Given the description of an element on the screen output the (x, y) to click on. 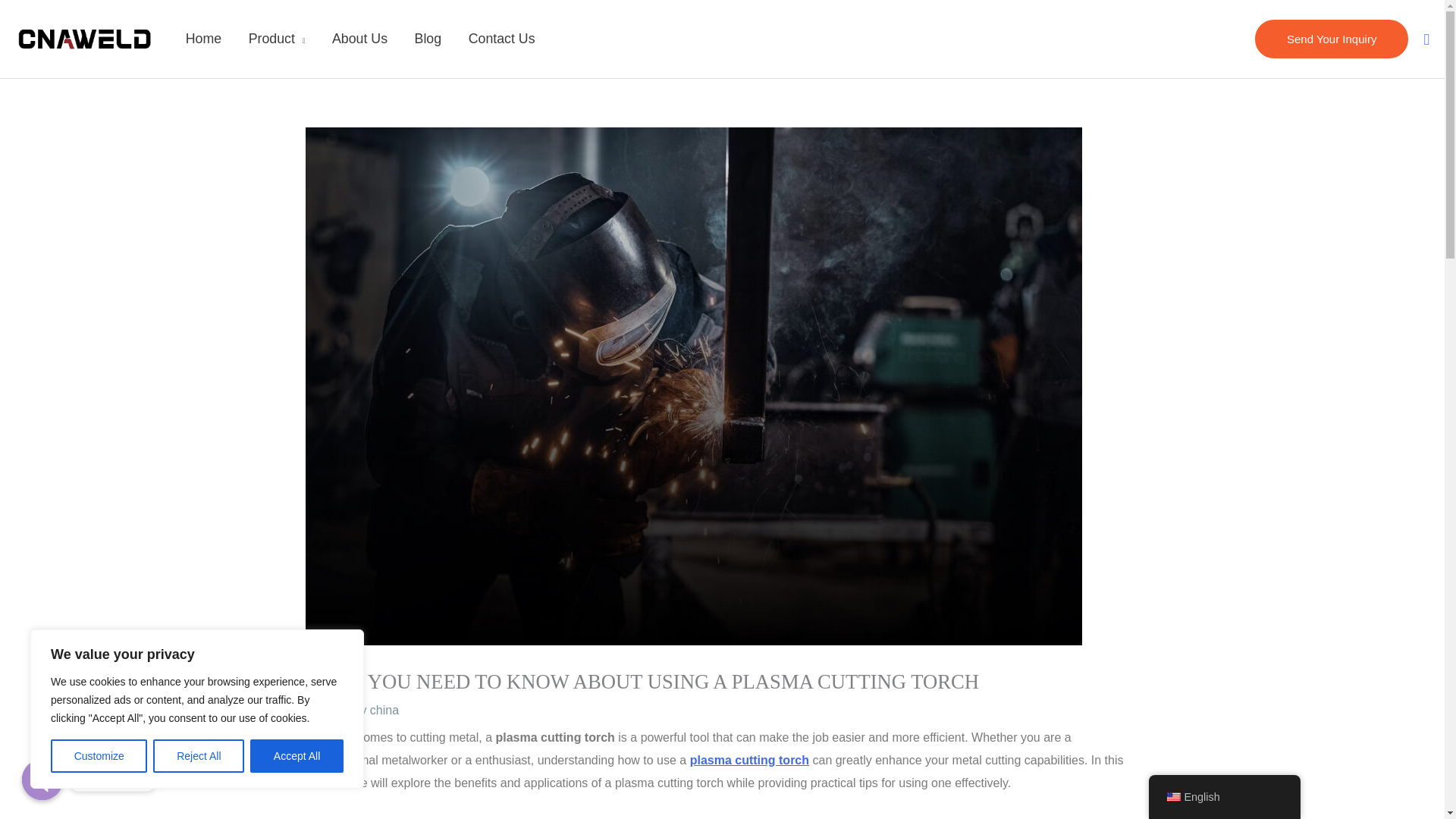
English (1172, 796)
Accept All (296, 756)
Contact Us (501, 38)
View all posts by china (383, 709)
Home (202, 38)
Send Your Inquiry (1331, 38)
Product (276, 38)
Blog (427, 38)
Reject All (198, 756)
About Us (359, 38)
Customize (98, 756)
